Given the description of an element on the screen output the (x, y) to click on. 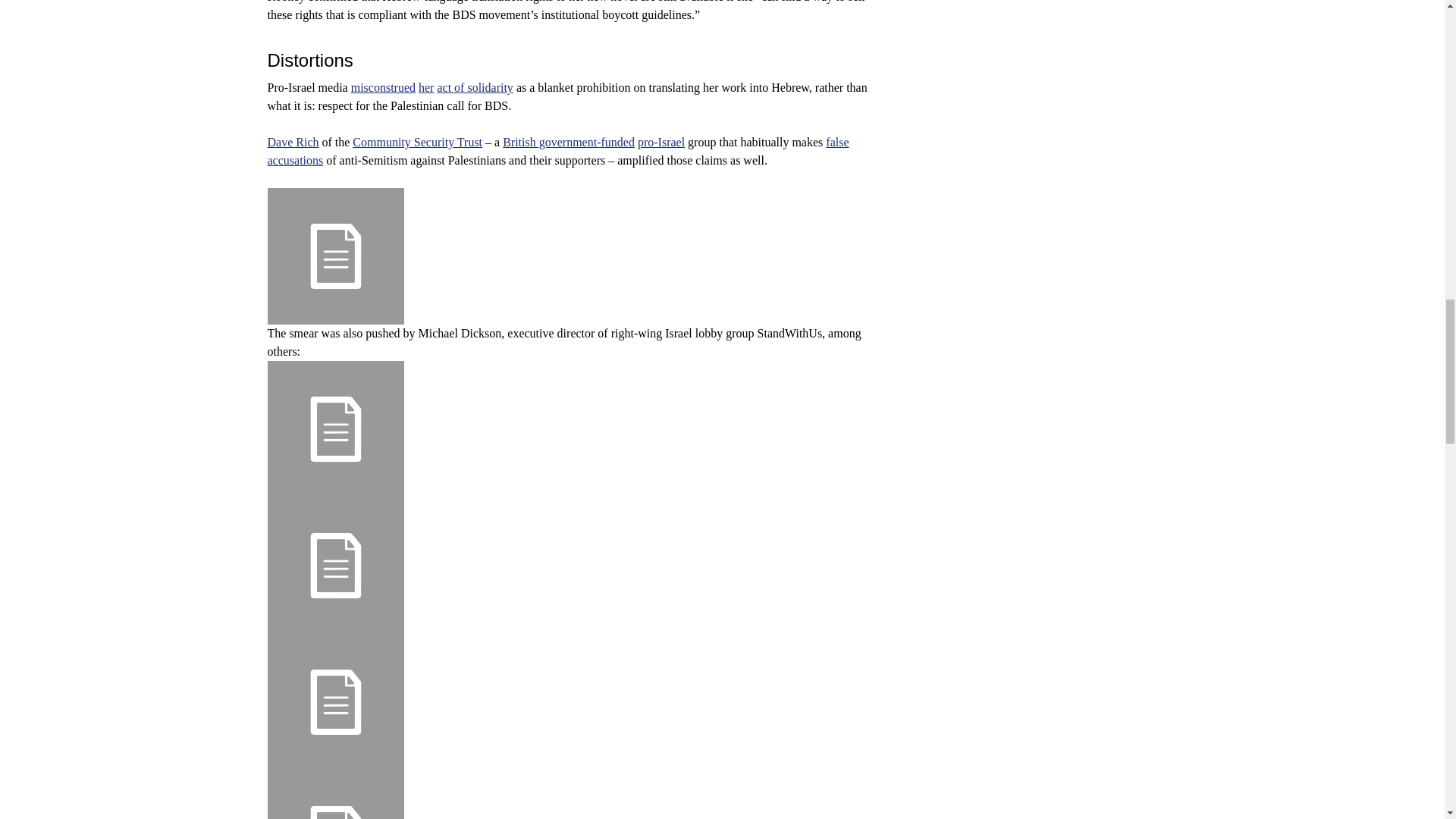
accusations (294, 160)
act of solidarity (474, 87)
British government-funded (568, 141)
misconstrued (382, 87)
Dave Rich (292, 141)
Community Security Trust (416, 141)
pro-Israel (660, 141)
her (426, 87)
false (836, 141)
